Given the description of an element on the screen output the (x, y) to click on. 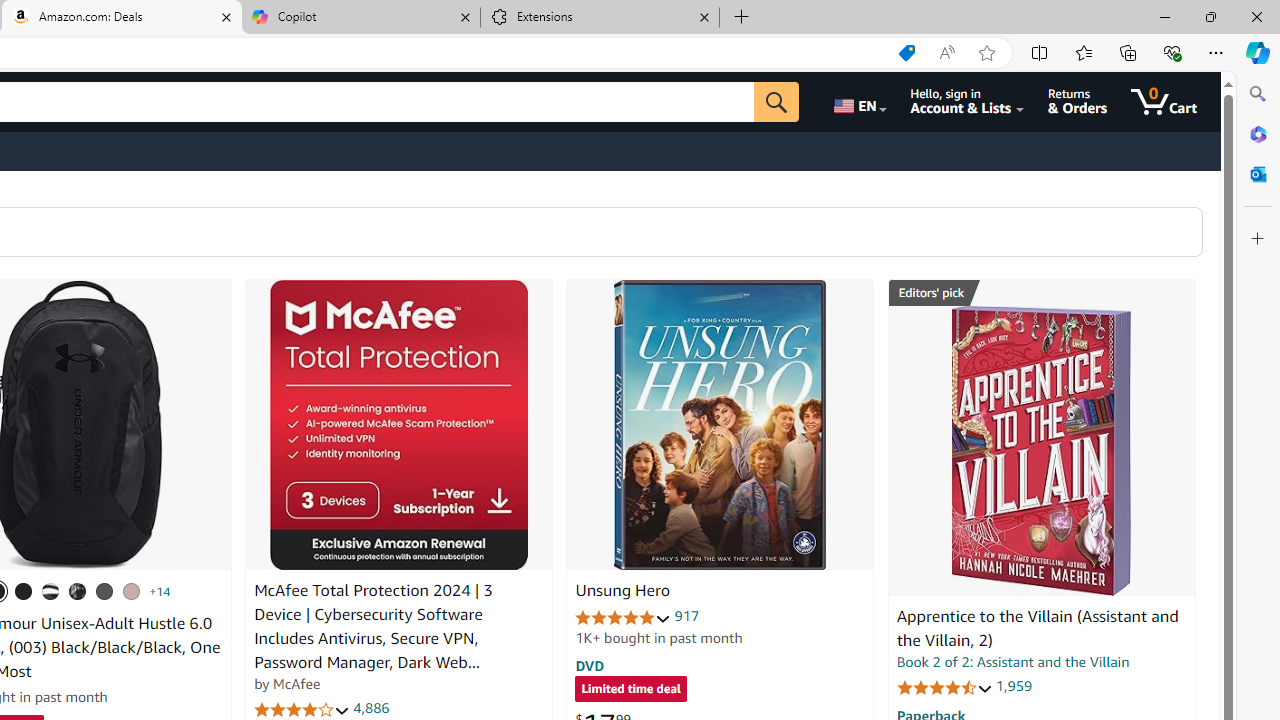
4.1 out of 5 stars (301, 709)
Go (776, 101)
Apprentice to the Villain (Assistant and the Villain, 2) (1037, 628)
1,959 (1013, 686)
(005) Black Full Heather / Black / Metallic Gold (104, 591)
4.6 out of 5 stars (944, 686)
Editors' pick Best Science Fiction & Fantasy (1041, 293)
Unsung Hero (720, 425)
Choose a language for shopping. (858, 101)
